Given the description of an element on the screen output the (x, y) to click on. 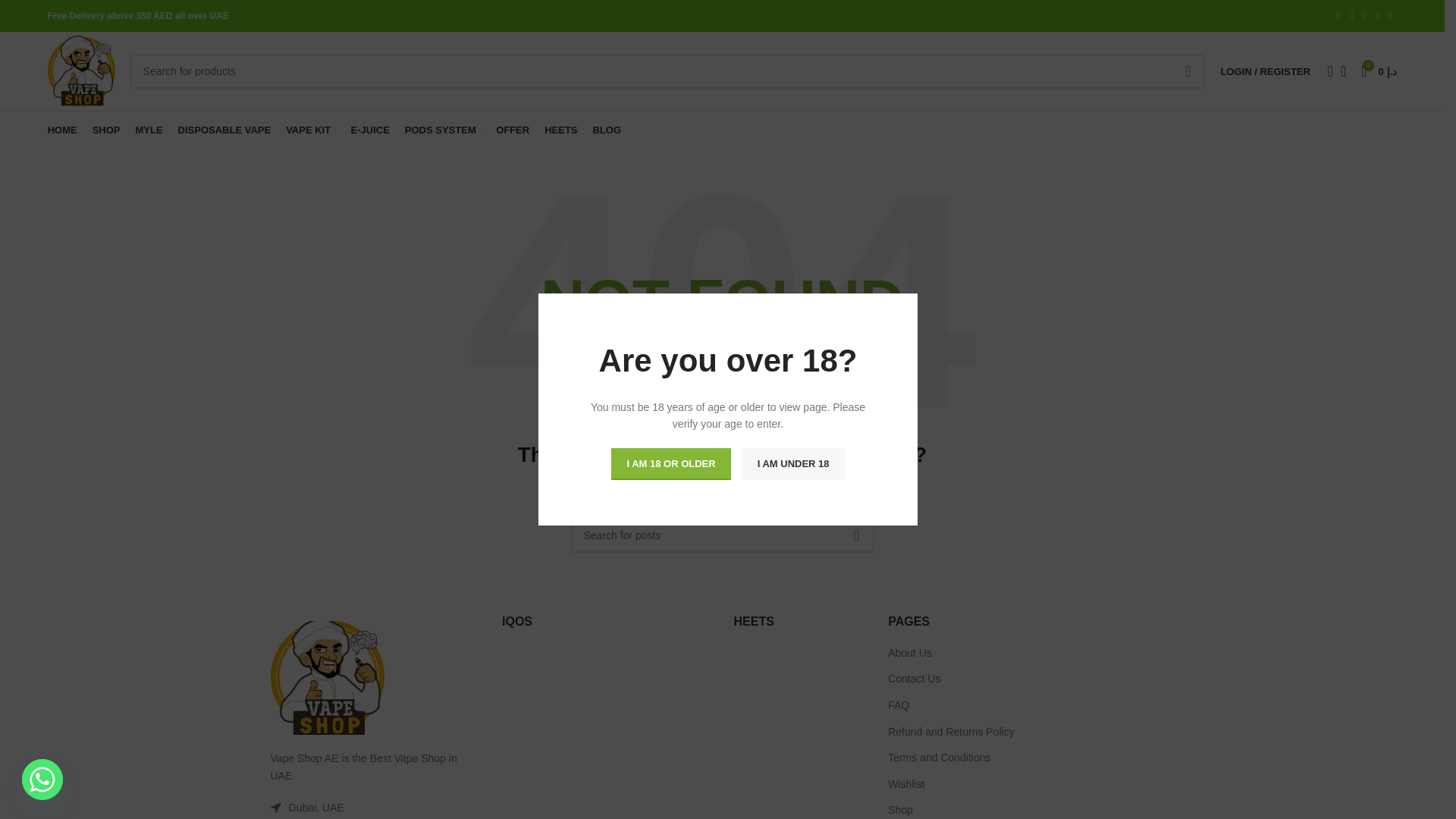
I AM 18 OR OLDER (670, 463)
HOME (62, 130)
SEARCH (1187, 71)
Search for products (668, 71)
I AM UNDER 18 (793, 463)
DISPOSABLE VAPE (223, 130)
wd-cursor-dark (275, 807)
E-JUICE (370, 130)
SHOP (106, 130)
OFFER (512, 130)
Search for posts (721, 534)
PODS SYSTEM (442, 130)
Shopping cart (1379, 71)
BLOG (606, 130)
HEETS (560, 130)
